Given the description of an element on the screen output the (x, y) to click on. 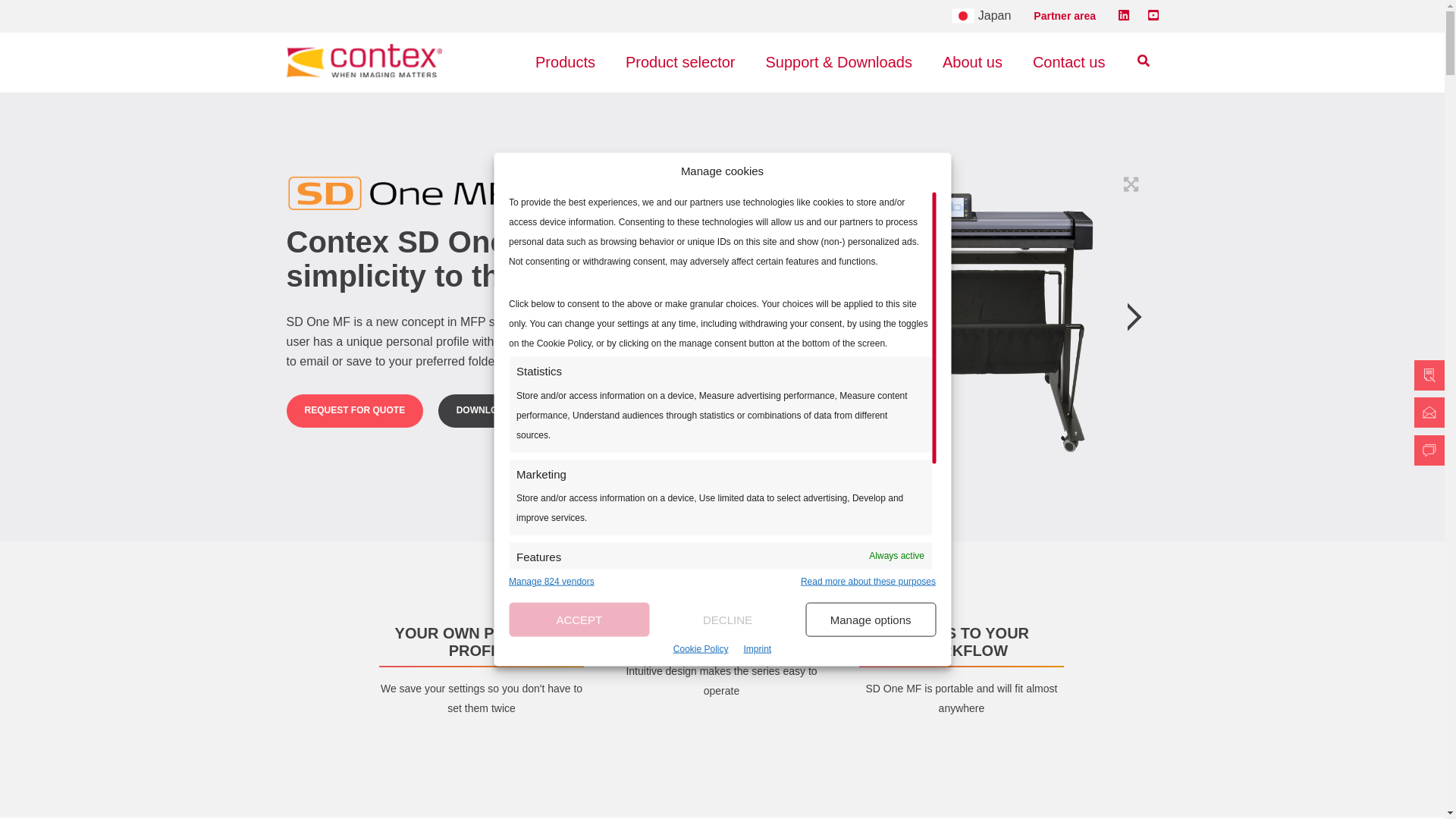
Read more about these purposes (868, 582)
Cookie Policy (700, 649)
Partner area (1064, 15)
Products (564, 62)
Manage options (870, 619)
Product selector (679, 62)
Contact us (1069, 62)
Manage 824 vendors (551, 582)
About us (972, 62)
Japan (981, 16)
REQUEST FOR QUOTE (354, 410)
DOWNLOAD DATASHEET (512, 410)
DECLINE (727, 619)
ACCEPT (578, 619)
Imprint (756, 649)
